Given the description of an element on the screen output the (x, y) to click on. 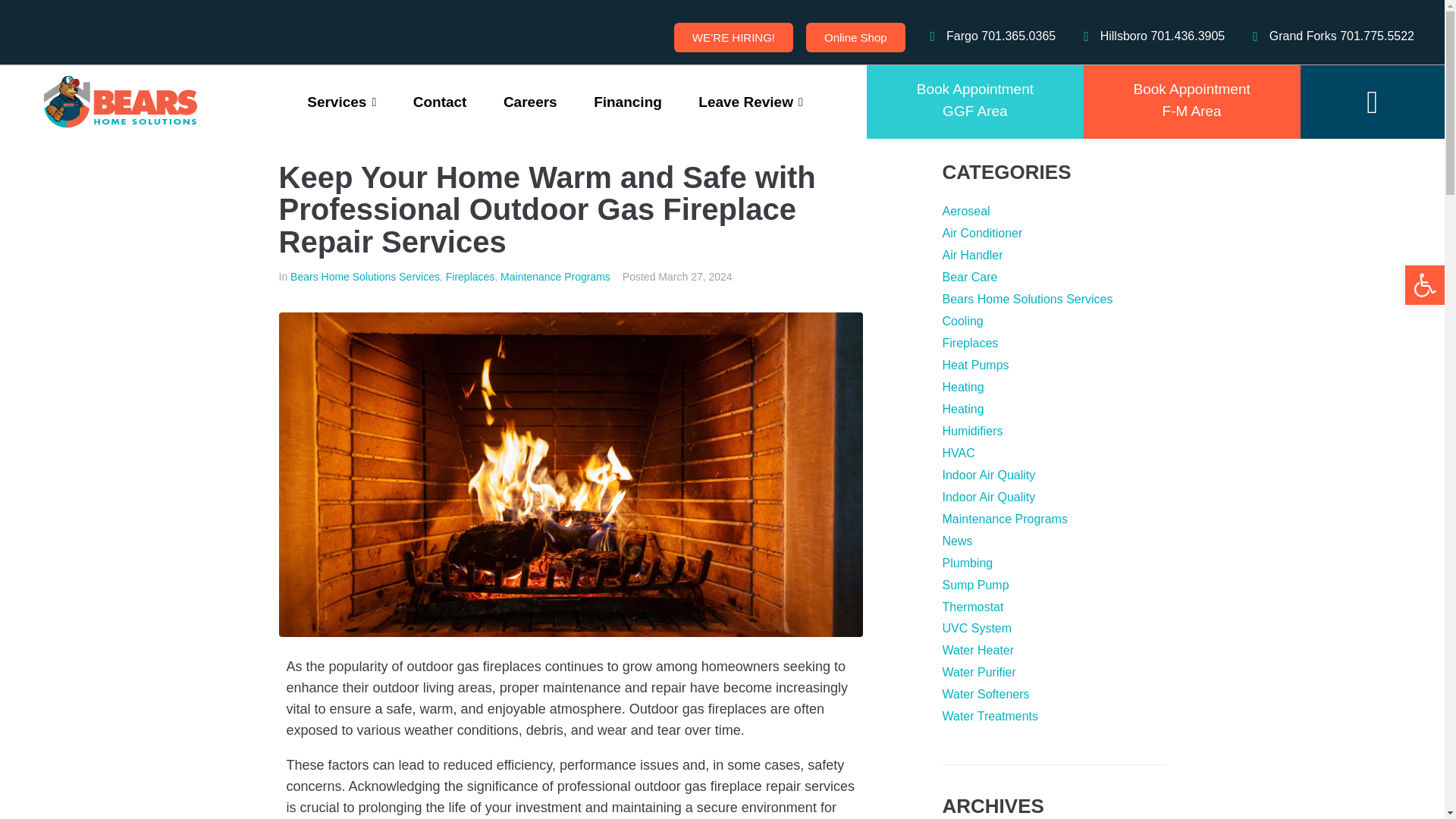
Online Shop (855, 37)
Hillsboro 701.436.3905 (975, 101)
Careers (1147, 36)
Fargo 701.365.0365 (529, 101)
Grand Forks 701.775.5522 (987, 36)
Contact (1326, 36)
Leave Review (439, 101)
Financing (750, 101)
Accessibility Tools (627, 101)
Services (1424, 284)
